Given the description of an element on the screen output the (x, y) to click on. 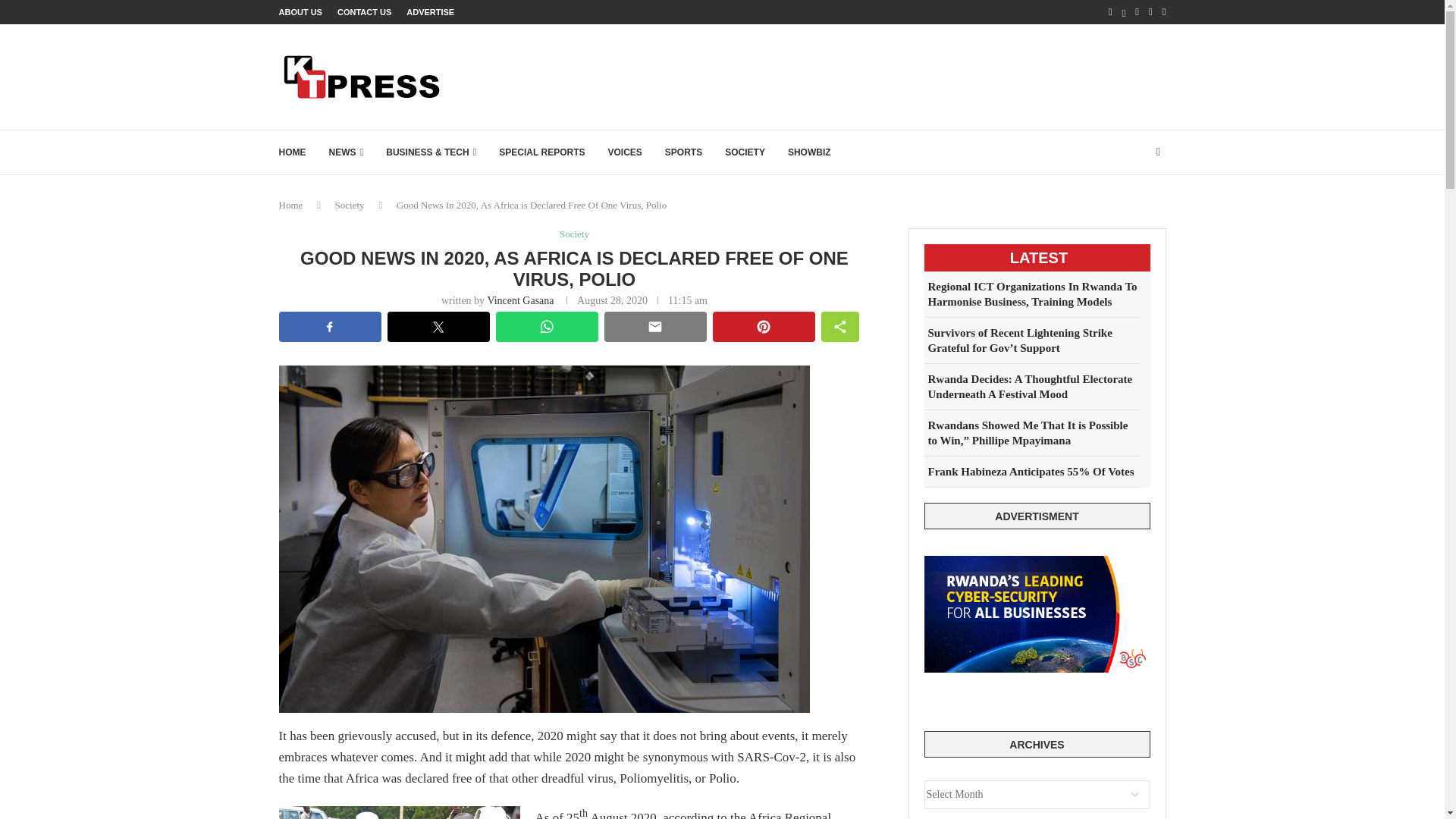
ADVERTISE (430, 12)
CONTACT US (364, 12)
Society (349, 204)
SOCIETY (745, 152)
ABOUT US (300, 12)
SPECIAL REPORTS (542, 152)
SHOWBIZ (809, 152)
Vincent Gasana (519, 300)
Society (574, 234)
Vincent Gasana (519, 300)
Home (290, 204)
